Given the description of an element on the screen output the (x, y) to click on. 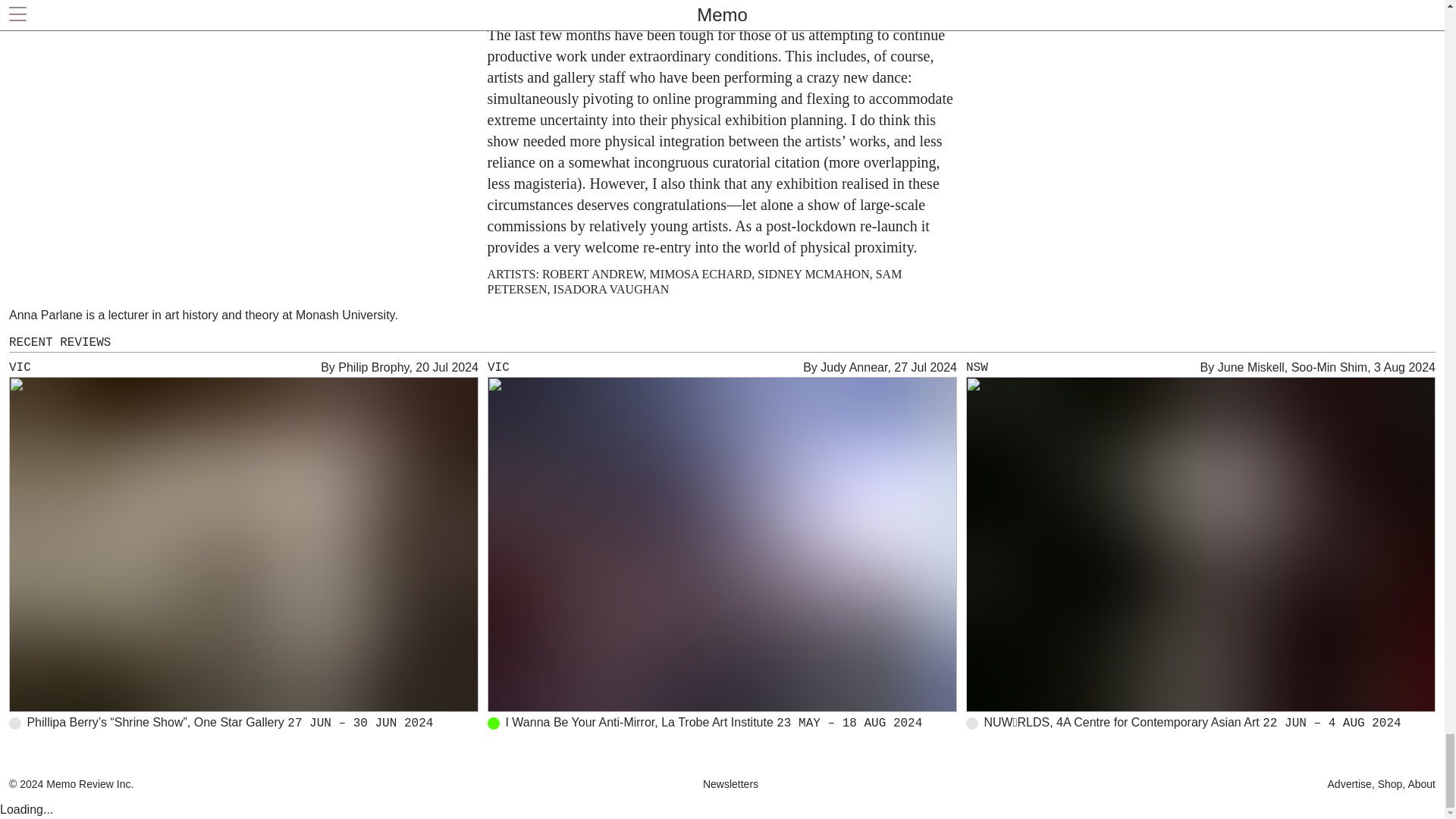
Newsletters (730, 783)
 About (1420, 783)
Advertise (1350, 783)
 Shop (1389, 783)
